Given the description of an element on the screen output the (x, y) to click on. 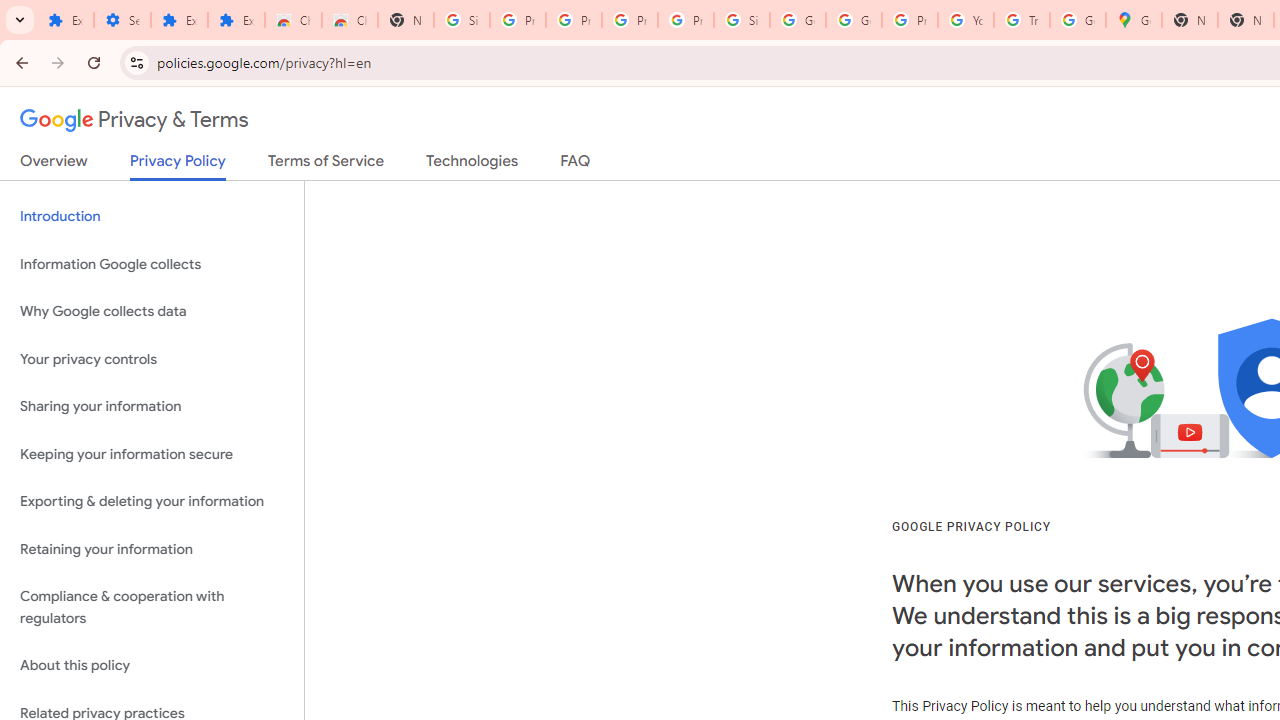
Why Google collects data (152, 312)
Information Google collects (152, 263)
Extensions (235, 20)
New Tab (405, 20)
Sign in - Google Accounts (742, 20)
Settings (122, 20)
Exporting & deleting your information (152, 502)
Your privacy controls (152, 358)
